Given the description of an element on the screen output the (x, y) to click on. 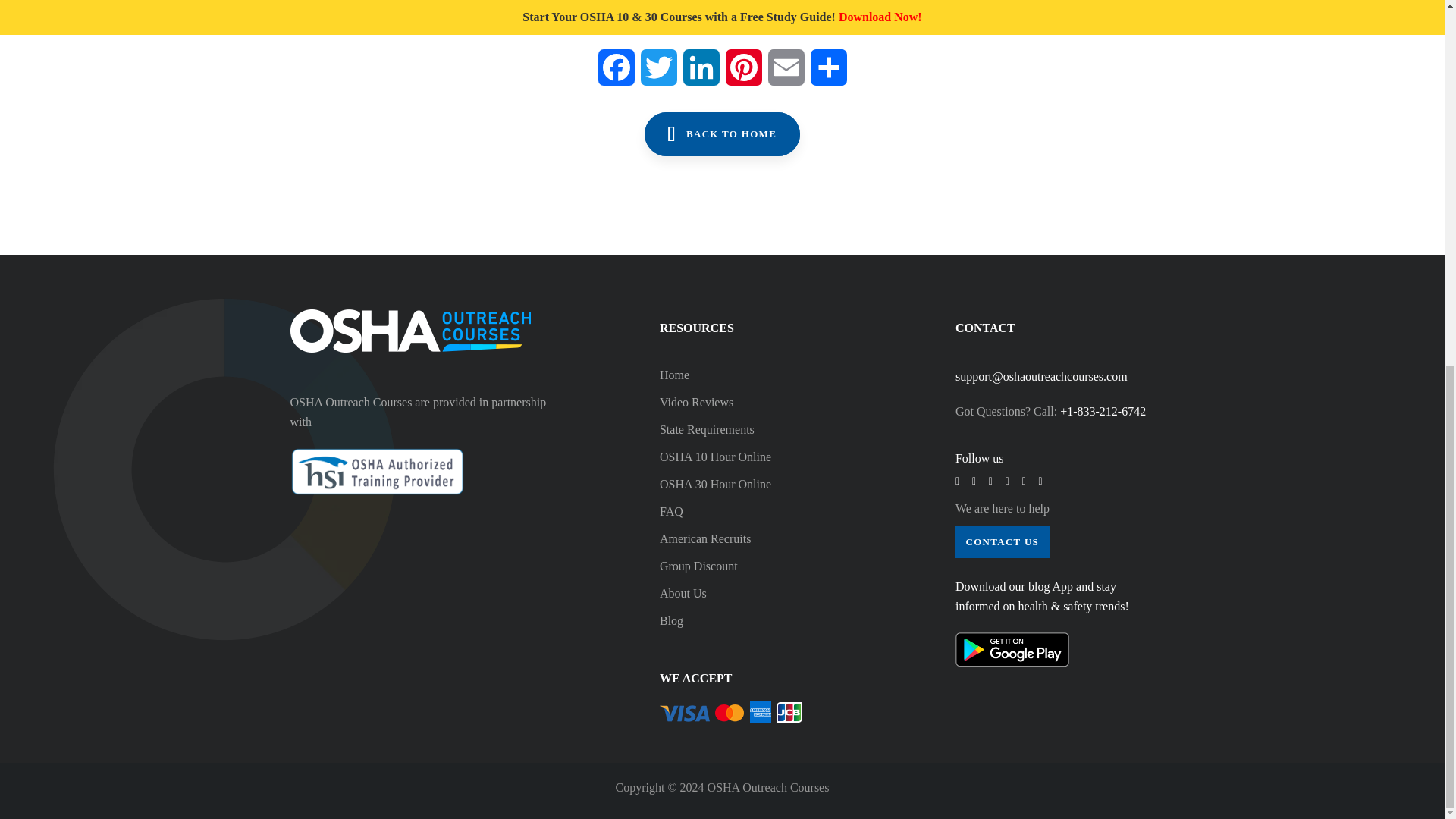
OSHA 30 Hour Online (759, 484)
Accepted Payment Methods (731, 711)
Video Reviews (759, 402)
State Requirements (759, 429)
OSHA Outreach Courses (409, 330)
OSHA 10 Hour Online (759, 457)
American Recruits (759, 538)
FAQ (759, 511)
BACK TO HOME (722, 134)
HSI OSHA Authorized Training Provider (376, 471)
Group Discount (759, 565)
About Us (759, 593)
Home (759, 375)
